Given the description of an element on the screen output the (x, y) to click on. 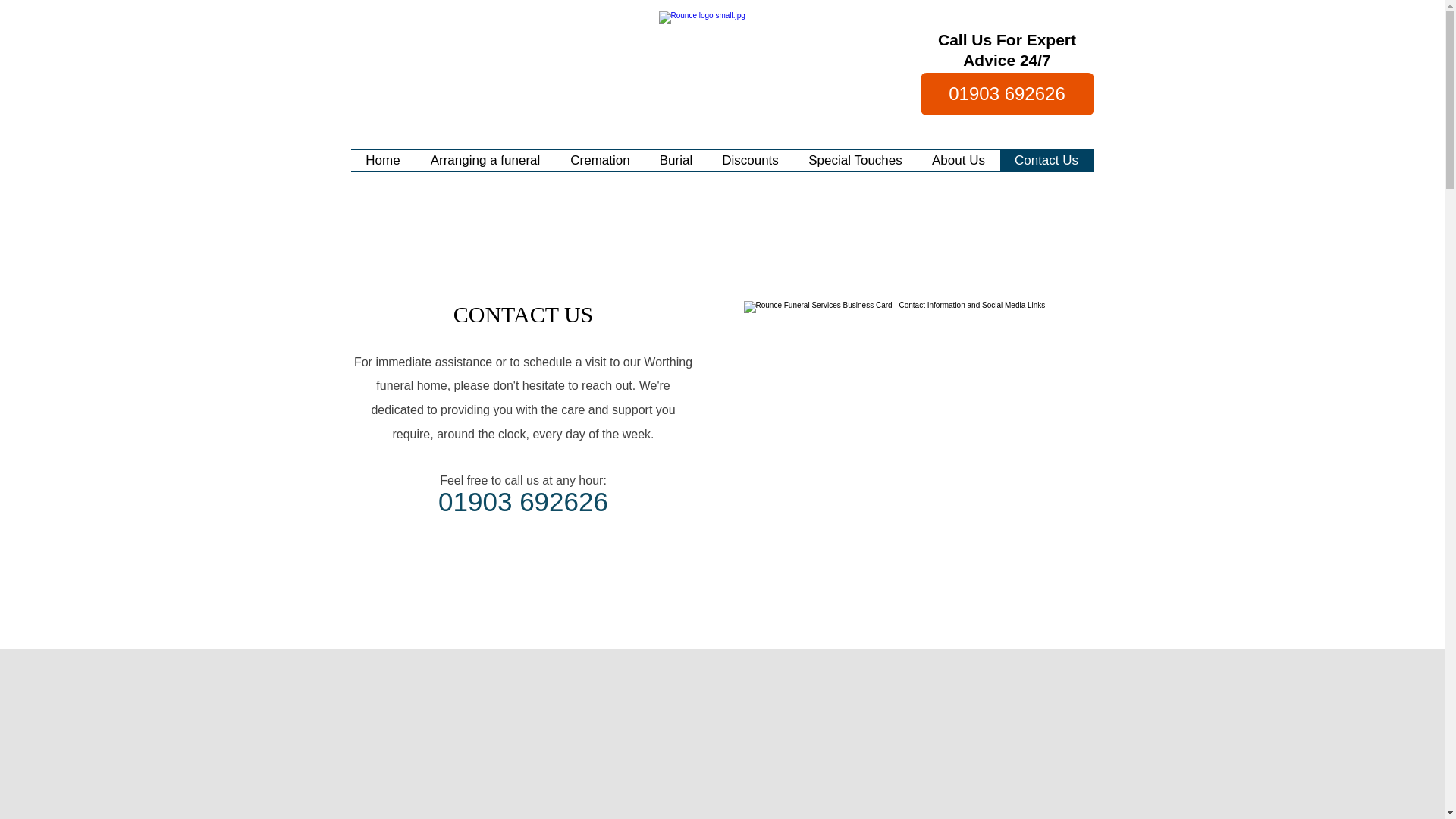
Home (382, 160)
Cremation (599, 160)
01903 692626 (1007, 93)
Discounts (749, 160)
Burial (675, 160)
Arranging a funeral (485, 160)
